Given the description of an element on the screen output the (x, y) to click on. 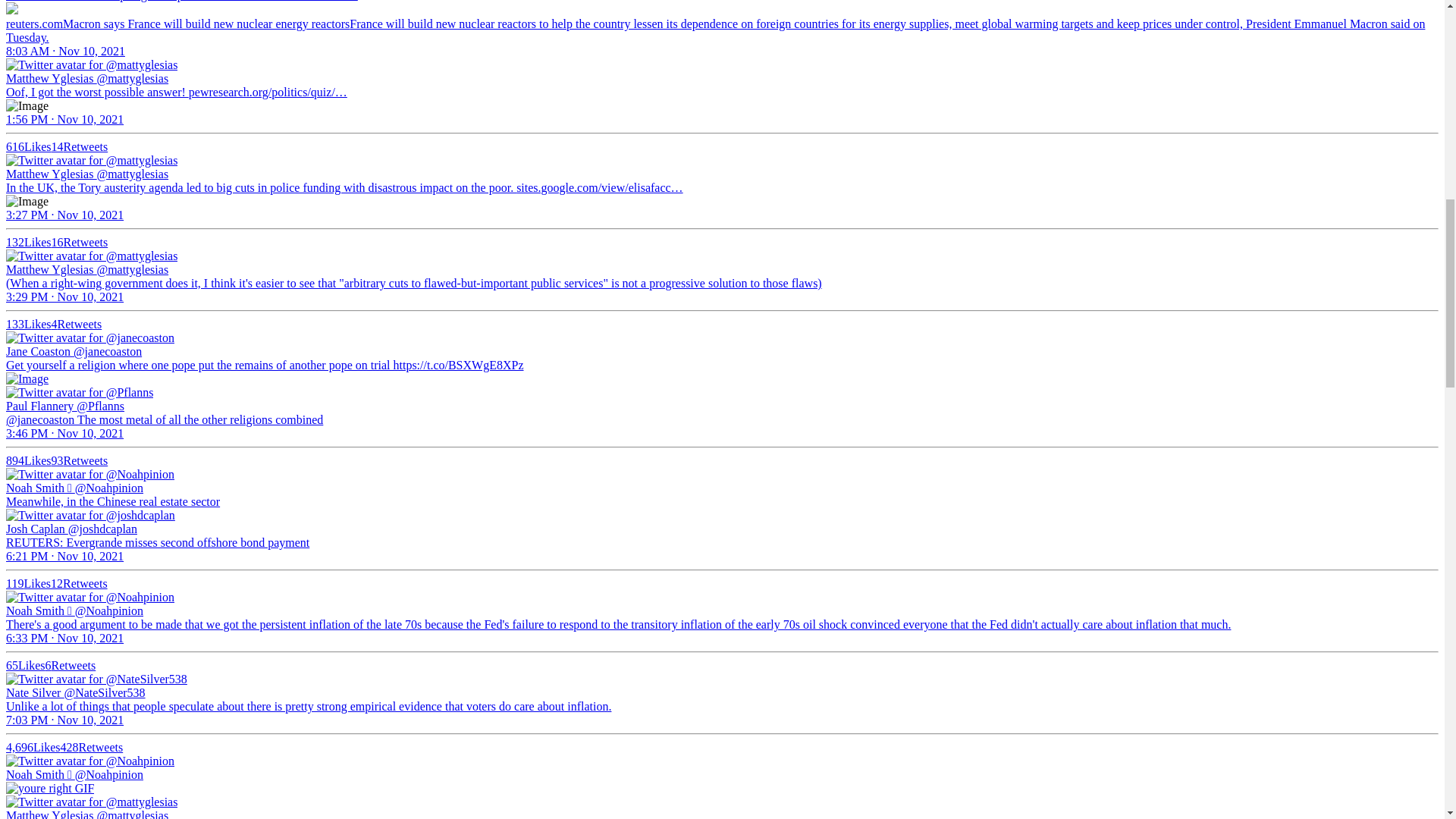
Oof, I got the worst possible answer! (97, 91)
